Given the description of an element on the screen output the (x, y) to click on. 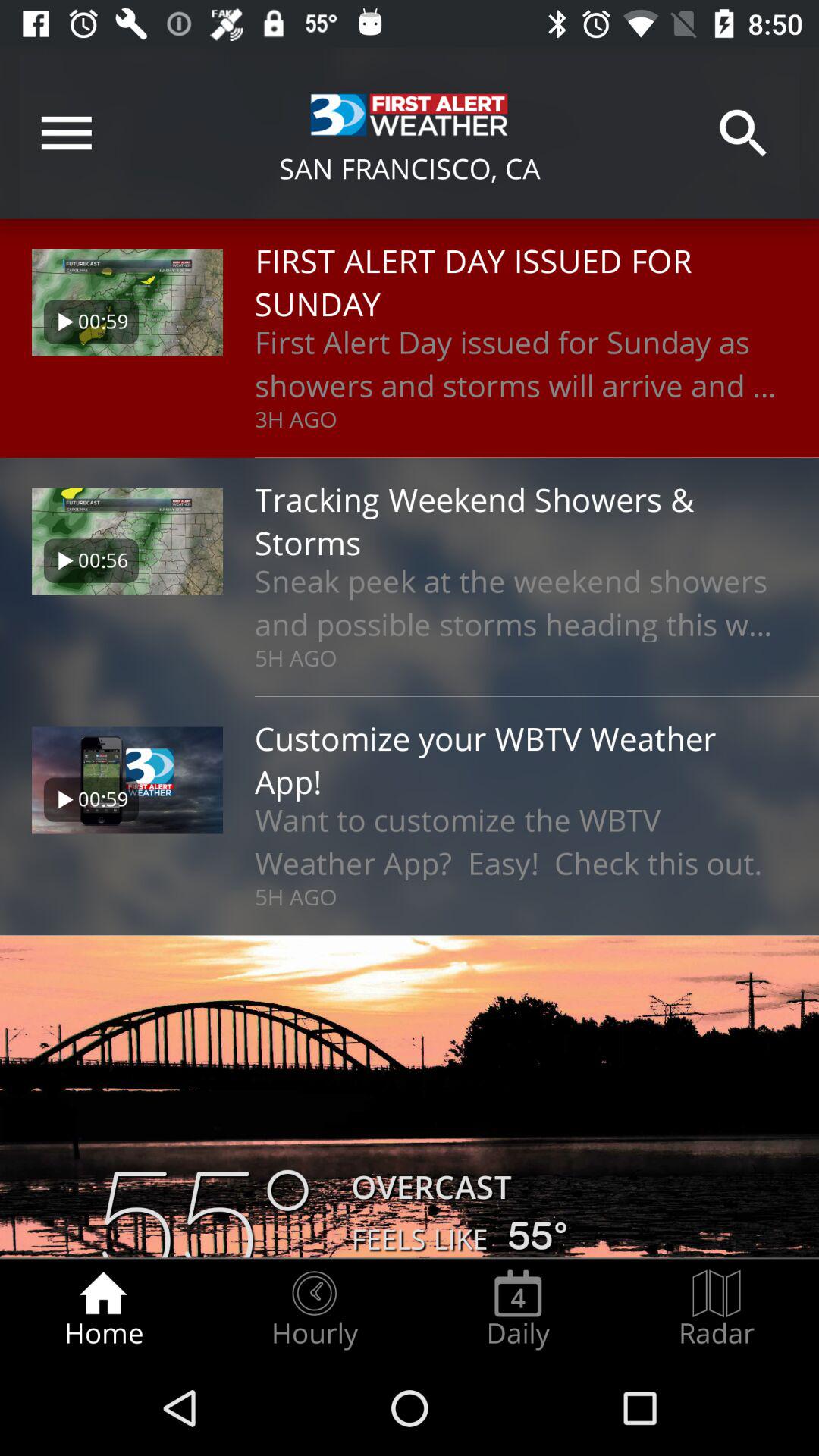
click item to the right of the home item (314, 1309)
